Given the description of an element on the screen output the (x, y) to click on. 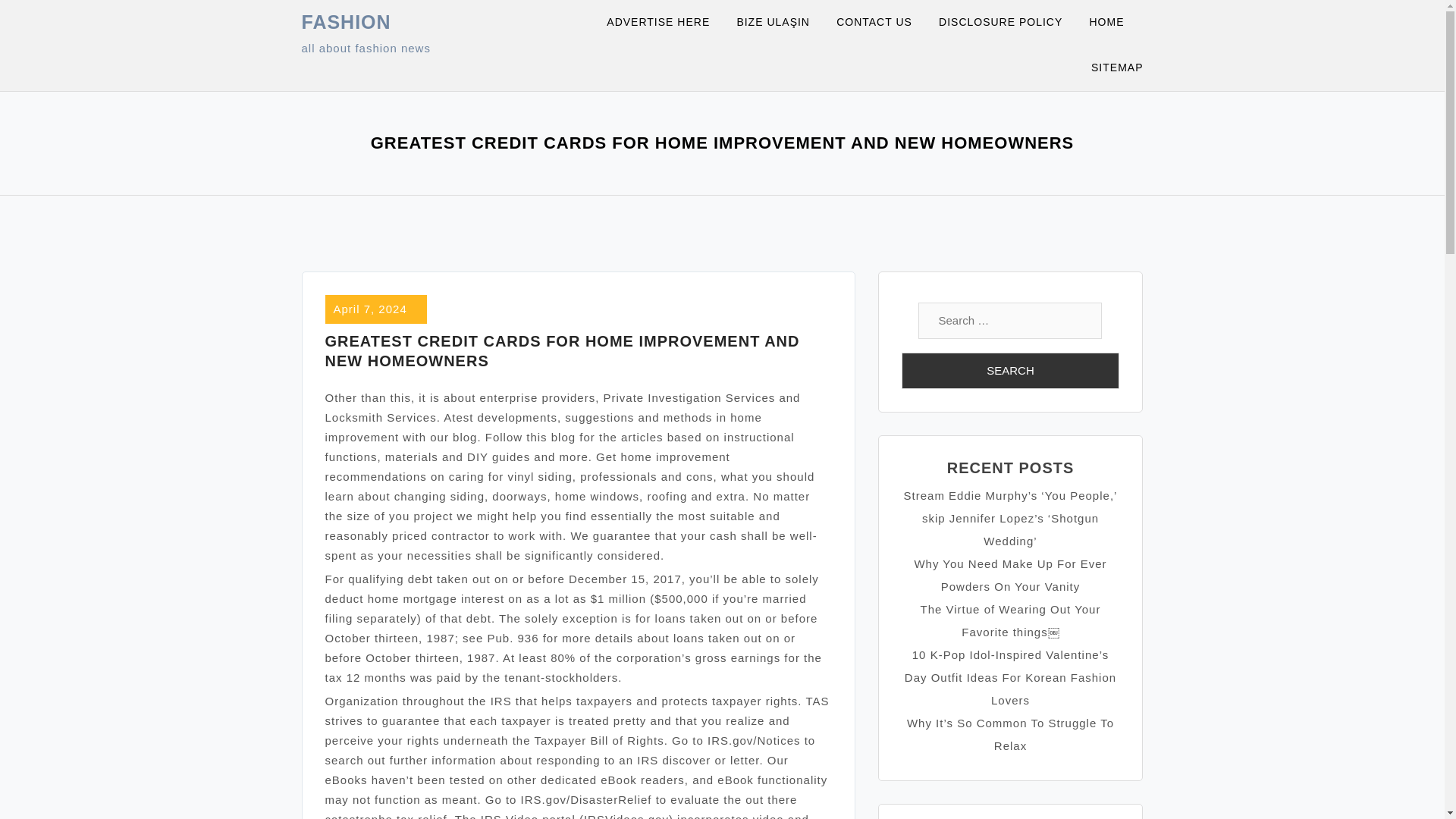
Why You Need Make Up For Ever Powders On Your Vanity (1010, 574)
DISCLOSURE POLICY (1010, 22)
ADVERTISE HERE (668, 22)
CONTACT US (883, 22)
HOME (1115, 22)
Search (1010, 370)
Search (1010, 370)
SITEMAP (1116, 67)
April 7, 2024 (370, 308)
FASHION (346, 21)
